Given the description of an element on the screen output the (x, y) to click on. 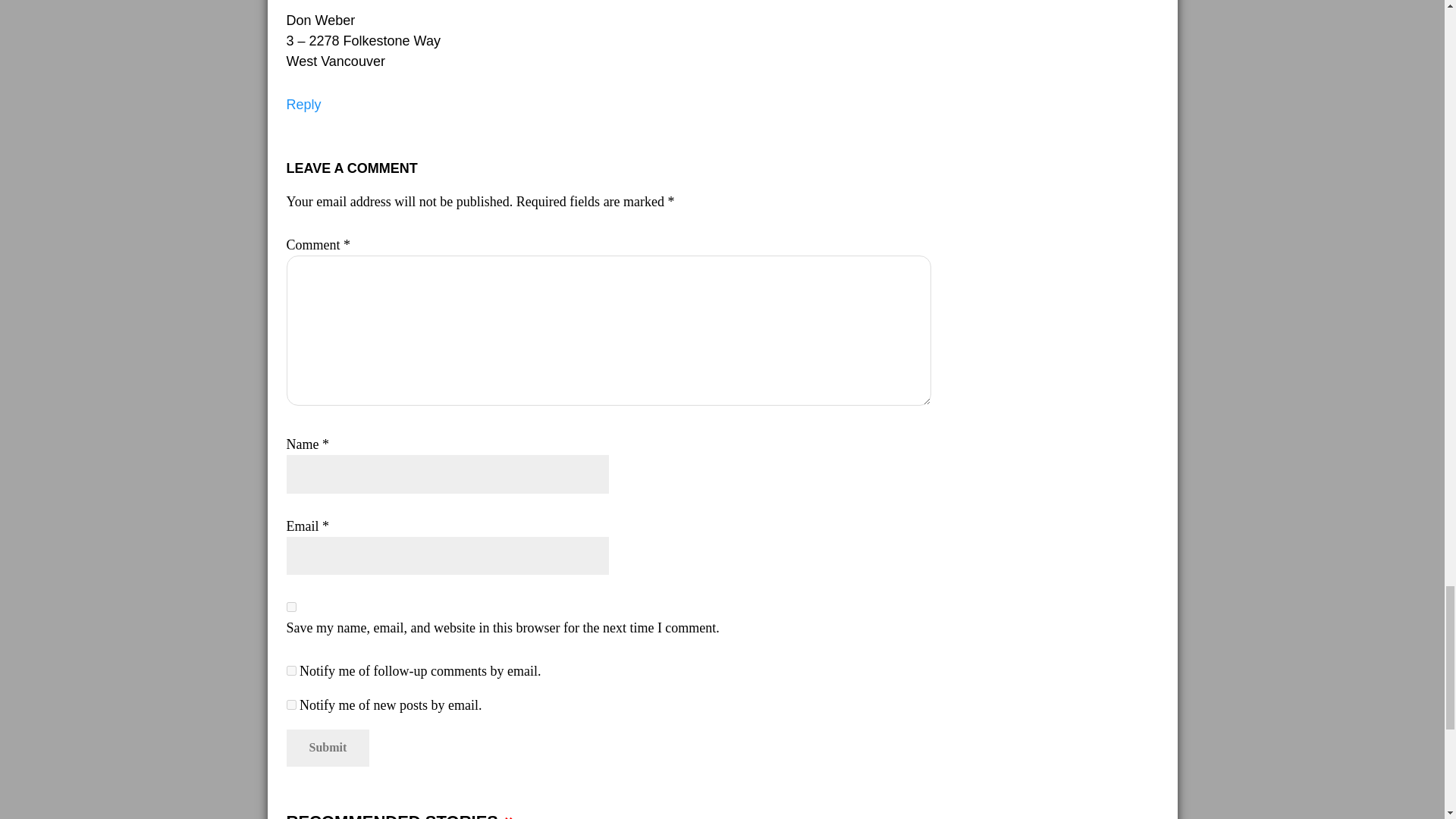
Reply (303, 104)
subscribe (291, 670)
yes (291, 606)
Submit (327, 747)
subscribe (291, 705)
Submit (327, 747)
